Given the description of an element on the screen output the (x, y) to click on. 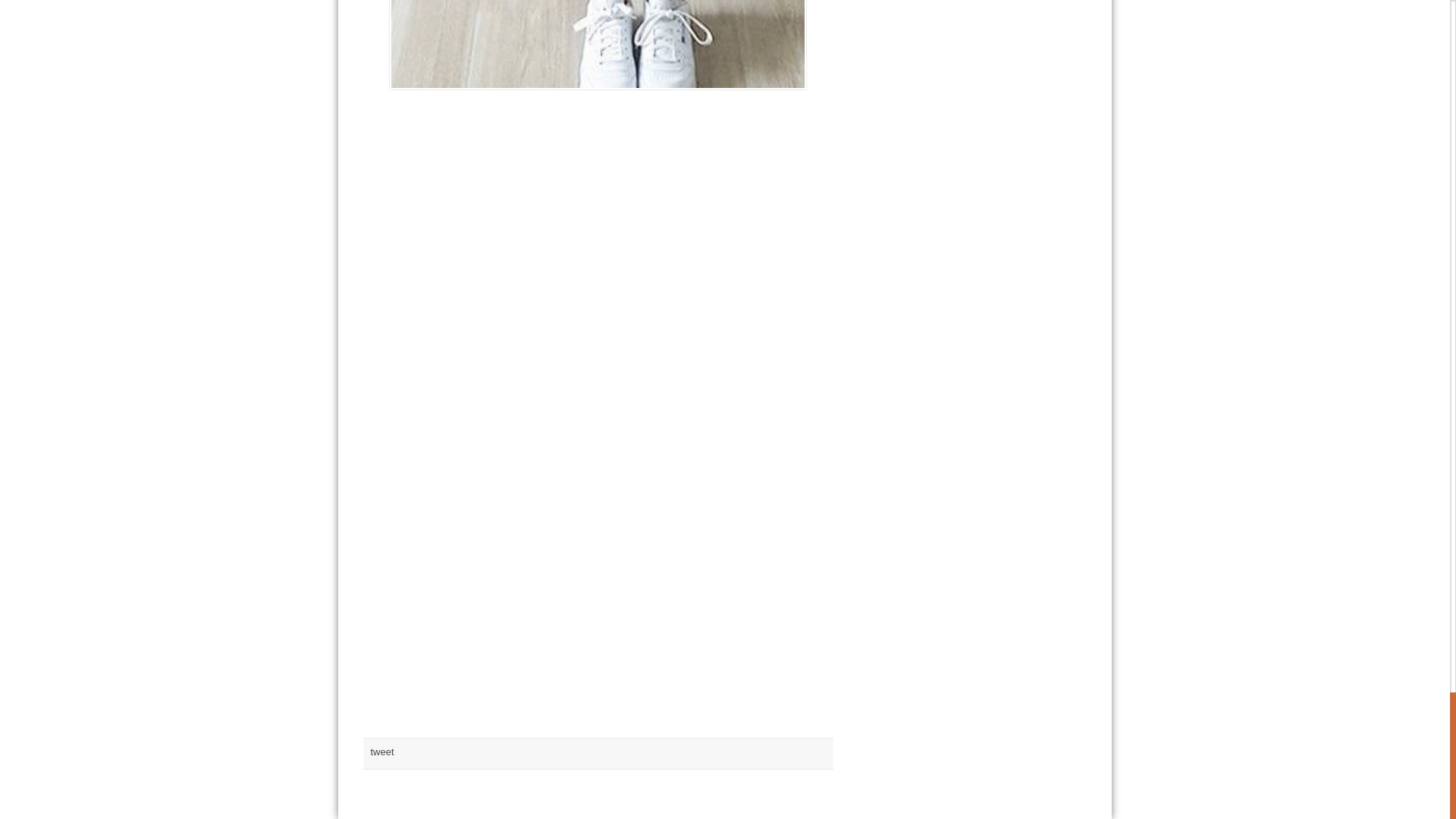
tweet (381, 751)
